Given the description of an element on the screen output the (x, y) to click on. 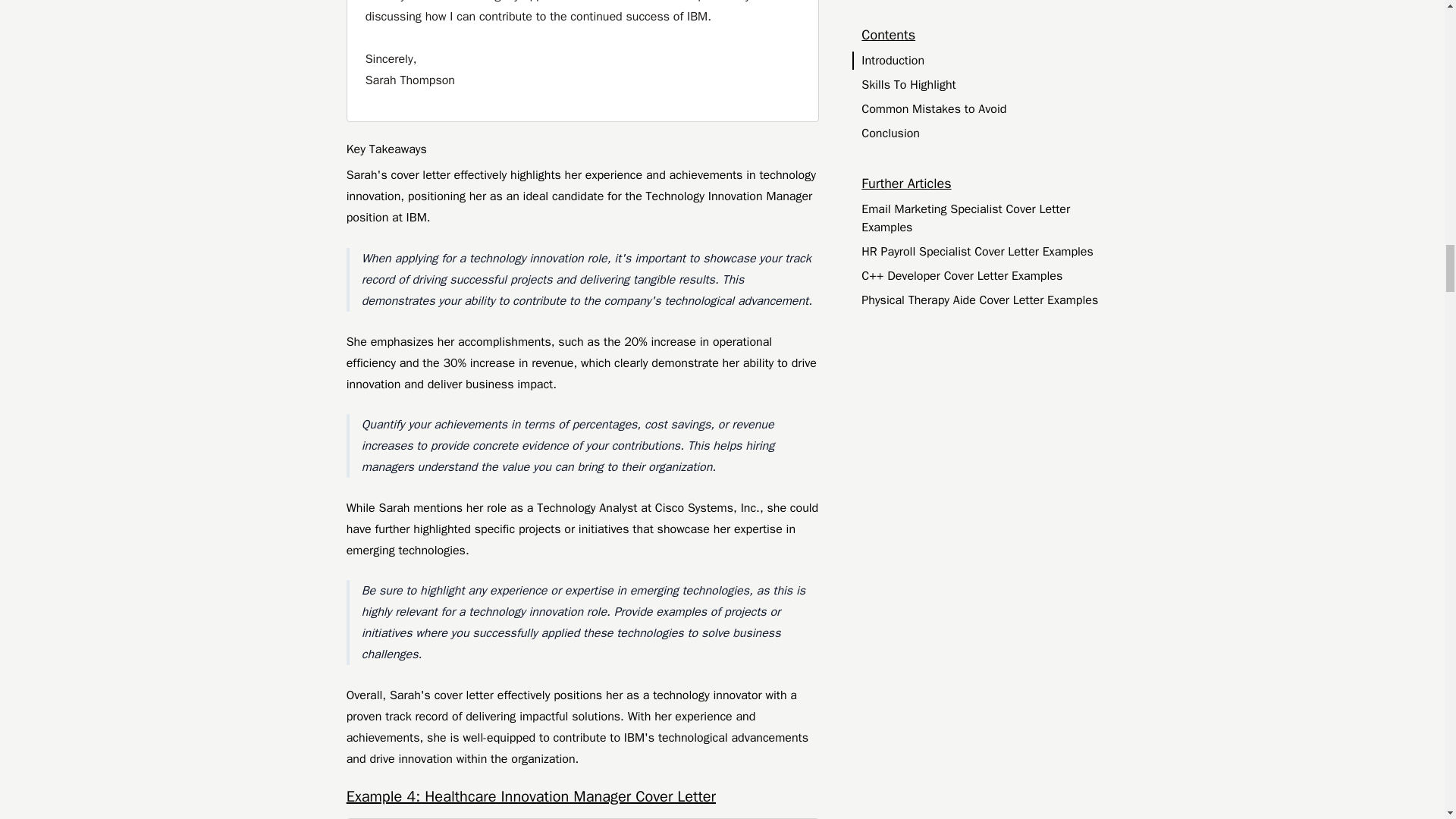
Example 4: Healthcare Innovation Manager Cover Letter (582, 796)
